Given the description of an element on the screen output the (x, y) to click on. 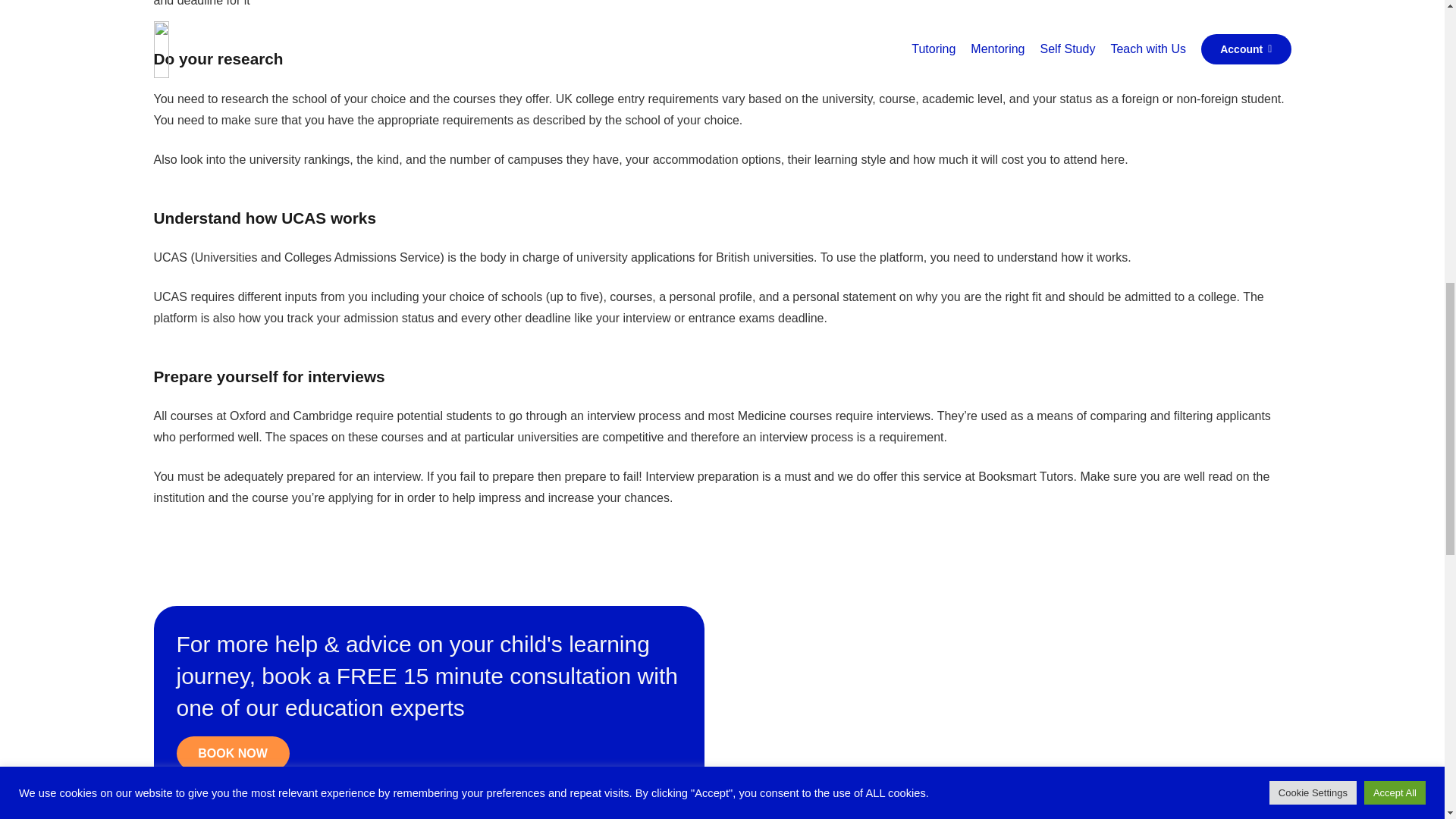
Back to top (1413, 30)
BOOK NOW (232, 753)
